Given the description of an element on the screen output the (x, y) to click on. 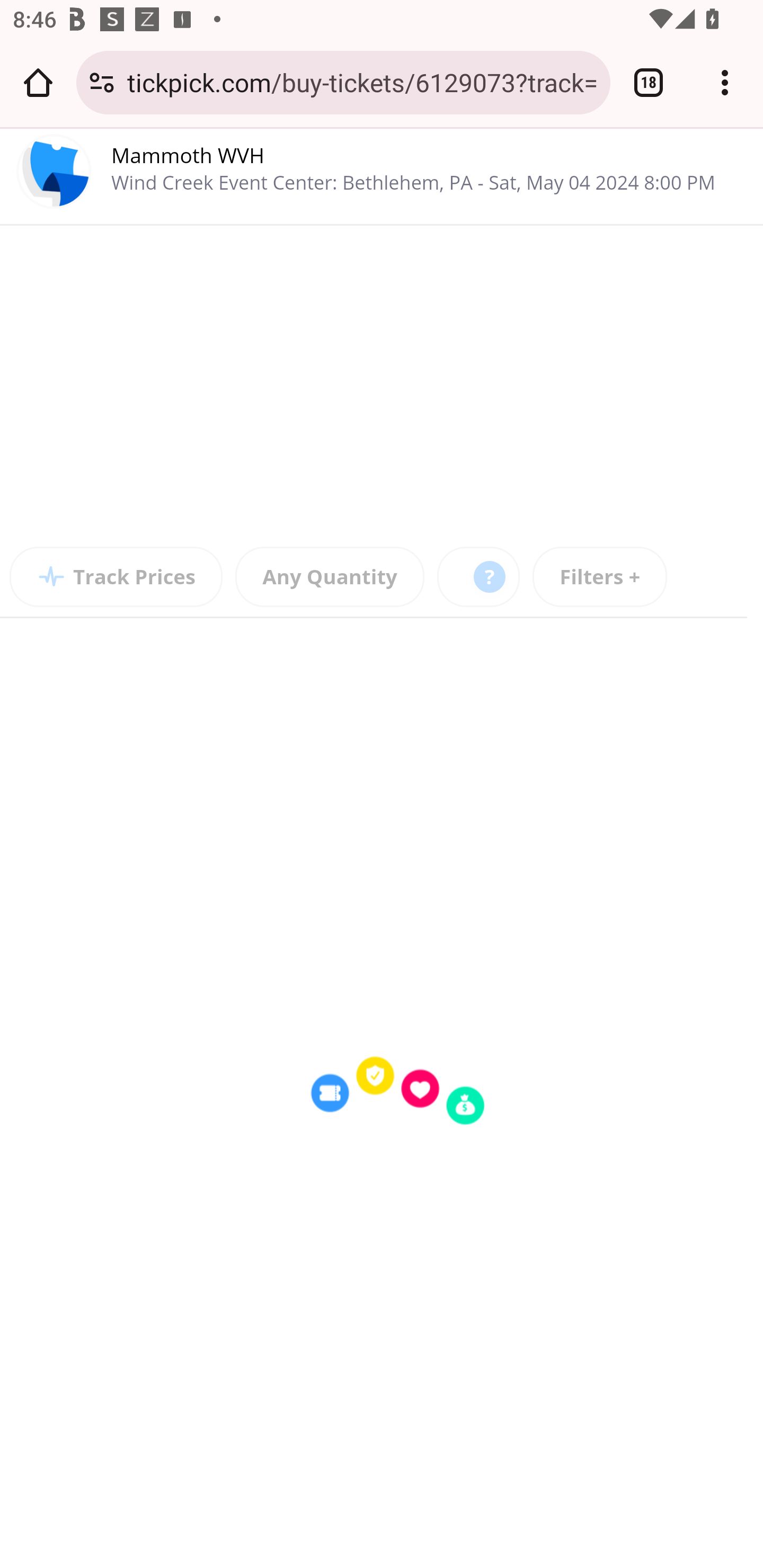
Open the home page (38, 82)
Connection is secure (101, 82)
Switch or close tabs (648, 82)
Customize and control Google Chrome (724, 82)
tickpick.com/buy-tickets/6129073?track=true (362, 82)
TickPick (54, 175)
Mammoth WVH (188, 155)
Track Prices (116, 576)
Filters + (599, 576)
Filter by quantity (330, 576)
Sort By (478, 576)
